Given the description of an element on the screen output the (x, y) to click on. 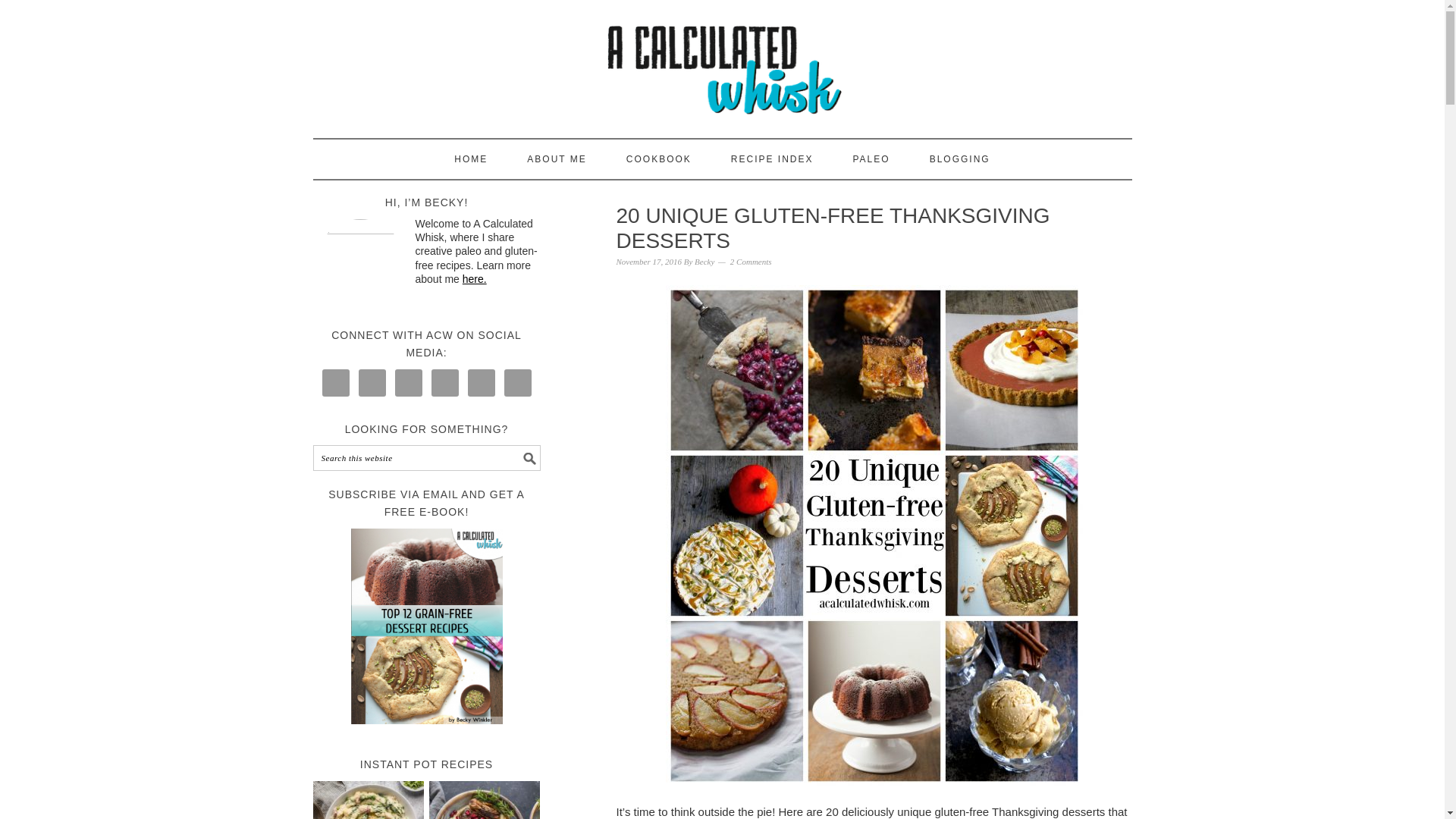
A CALCULATED WHISK (722, 62)
COOKBOOK (658, 159)
Becky (704, 261)
RECIPE INDEX (771, 159)
2 Comments (750, 261)
ABOUT ME (556, 159)
PALEO (871, 159)
BLOGGING (960, 159)
HOME (470, 159)
